Given the description of an element on the screen output the (x, y) to click on. 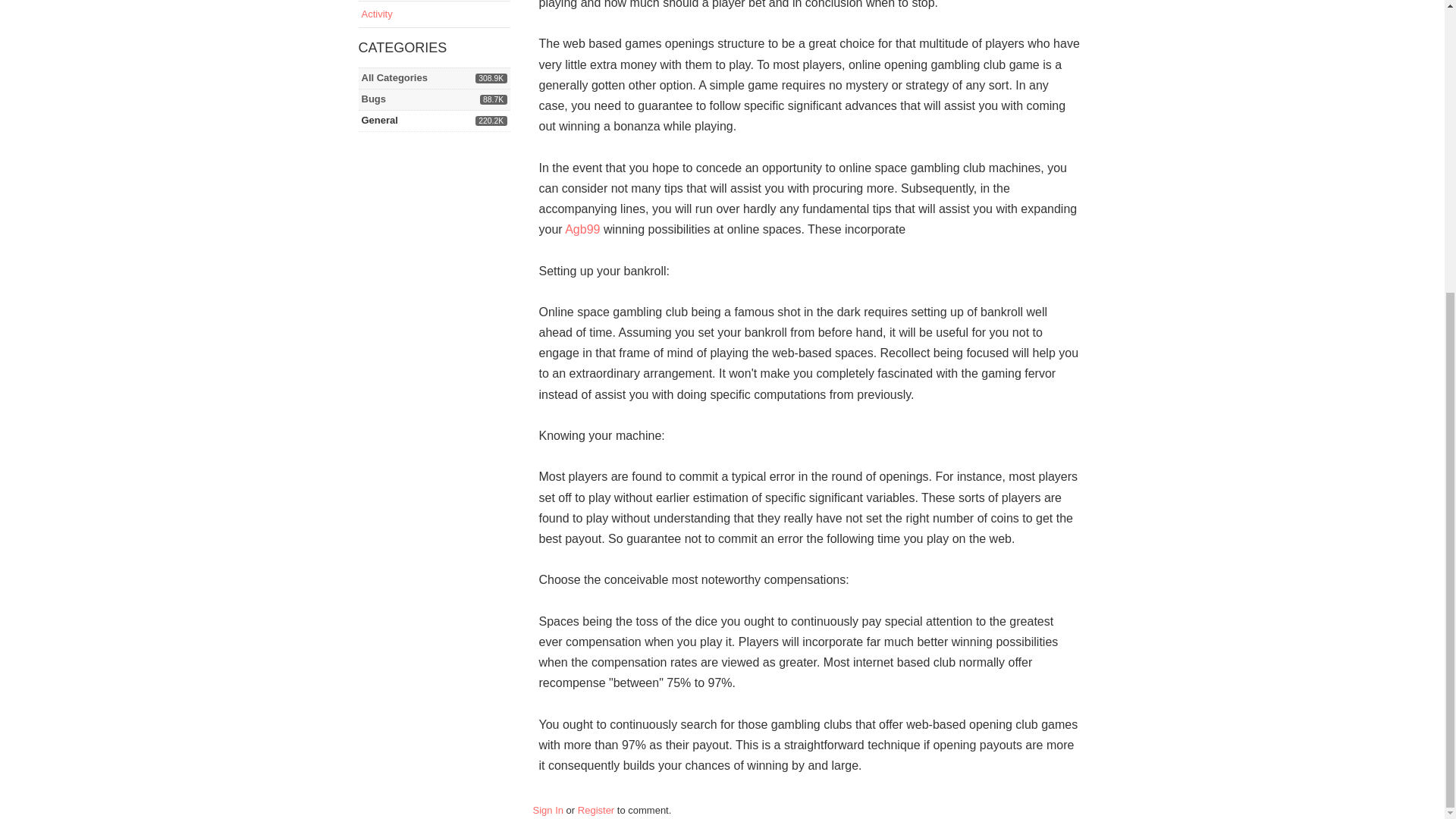
88,721 discussions (493, 99)
Agb99 (581, 228)
Register (393, 77)
Activity (596, 809)
Sign In (379, 120)
308,878 discussions (376, 13)
220,157 discussions (547, 809)
